Given the description of an element on the screen output the (x, y) to click on. 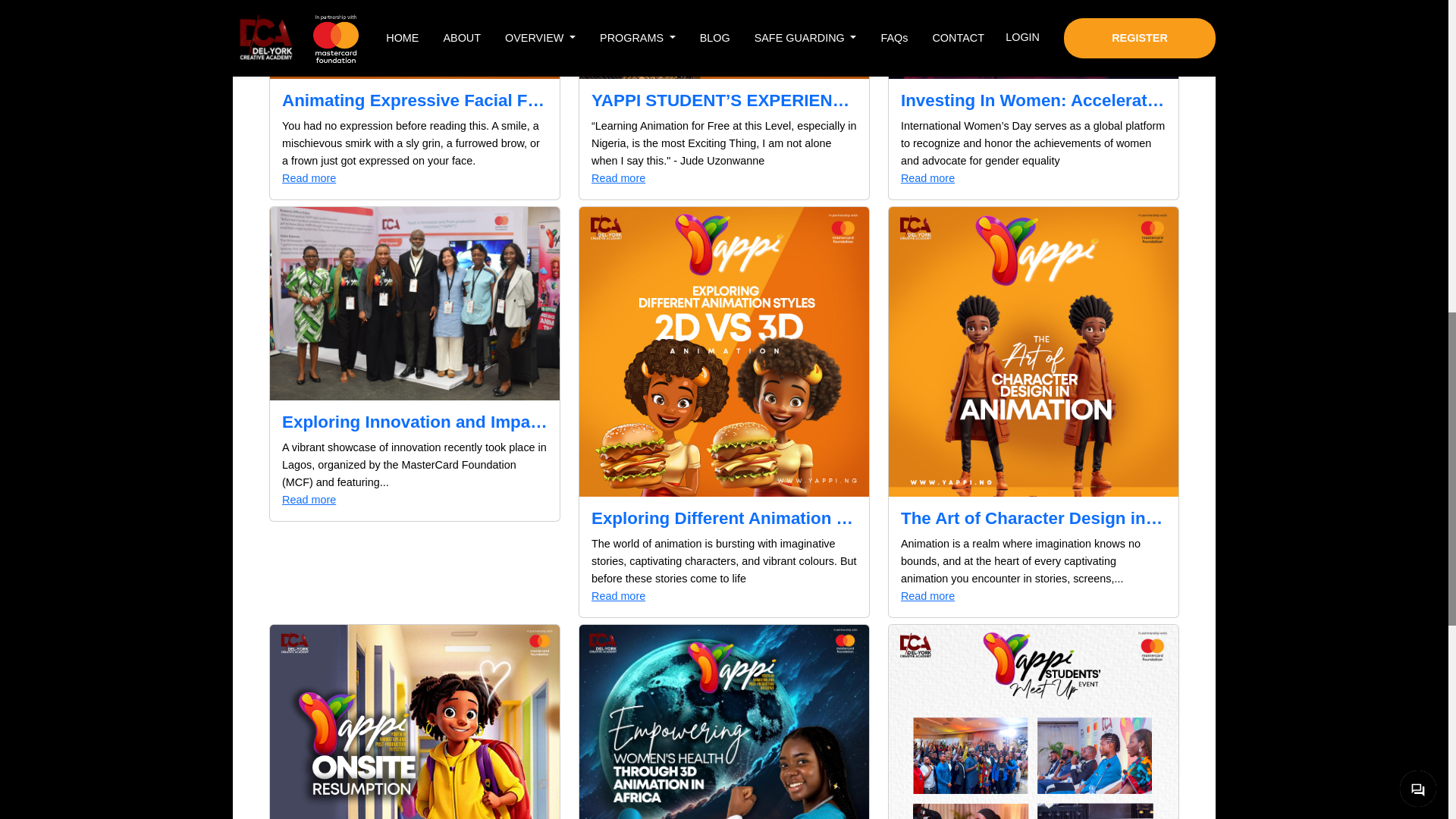
Read more (414, 178)
The Art of Character Design in Animation (1033, 518)
Read more (724, 178)
Read more (1033, 178)
Animating Expressive Facial Features: Tips and Techniques. (414, 100)
Read more (1033, 596)
Exploring Different Animation Styles: 2D vs. 3D Animation (724, 518)
Read more (414, 499)
Read more (724, 596)
